Given the description of an element on the screen output the (x, y) to click on. 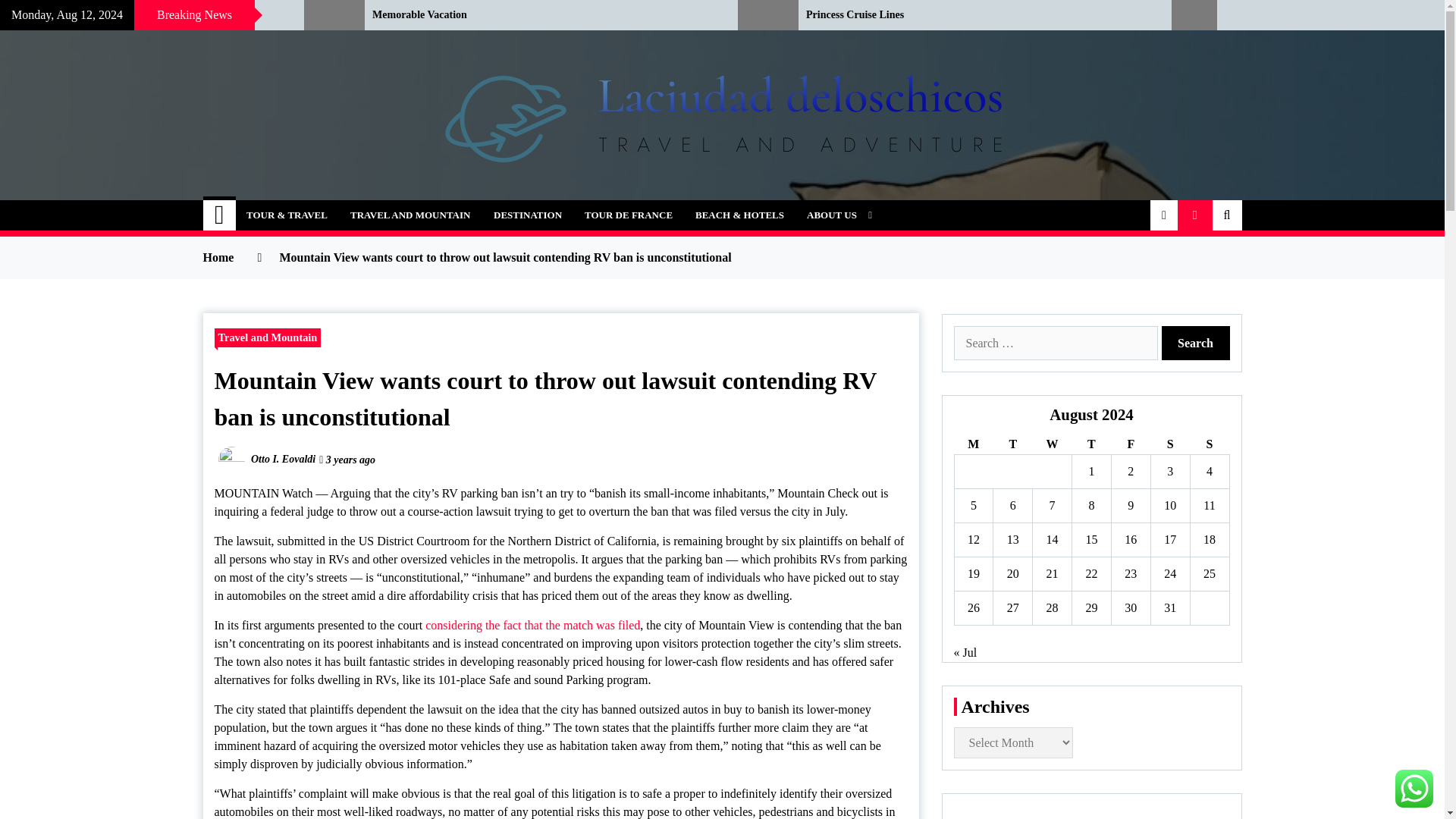
Home (219, 214)
5 Fun Things To Do On A Ski Vacation Besides Skiing (140, 15)
Search (1195, 342)
Wednesday (1051, 444)
Friday (1130, 444)
Sunday (1208, 444)
Saturday (1169, 444)
Thursday (1091, 444)
Search (1195, 342)
Monday (972, 444)
